Given the description of an element on the screen output the (x, y) to click on. 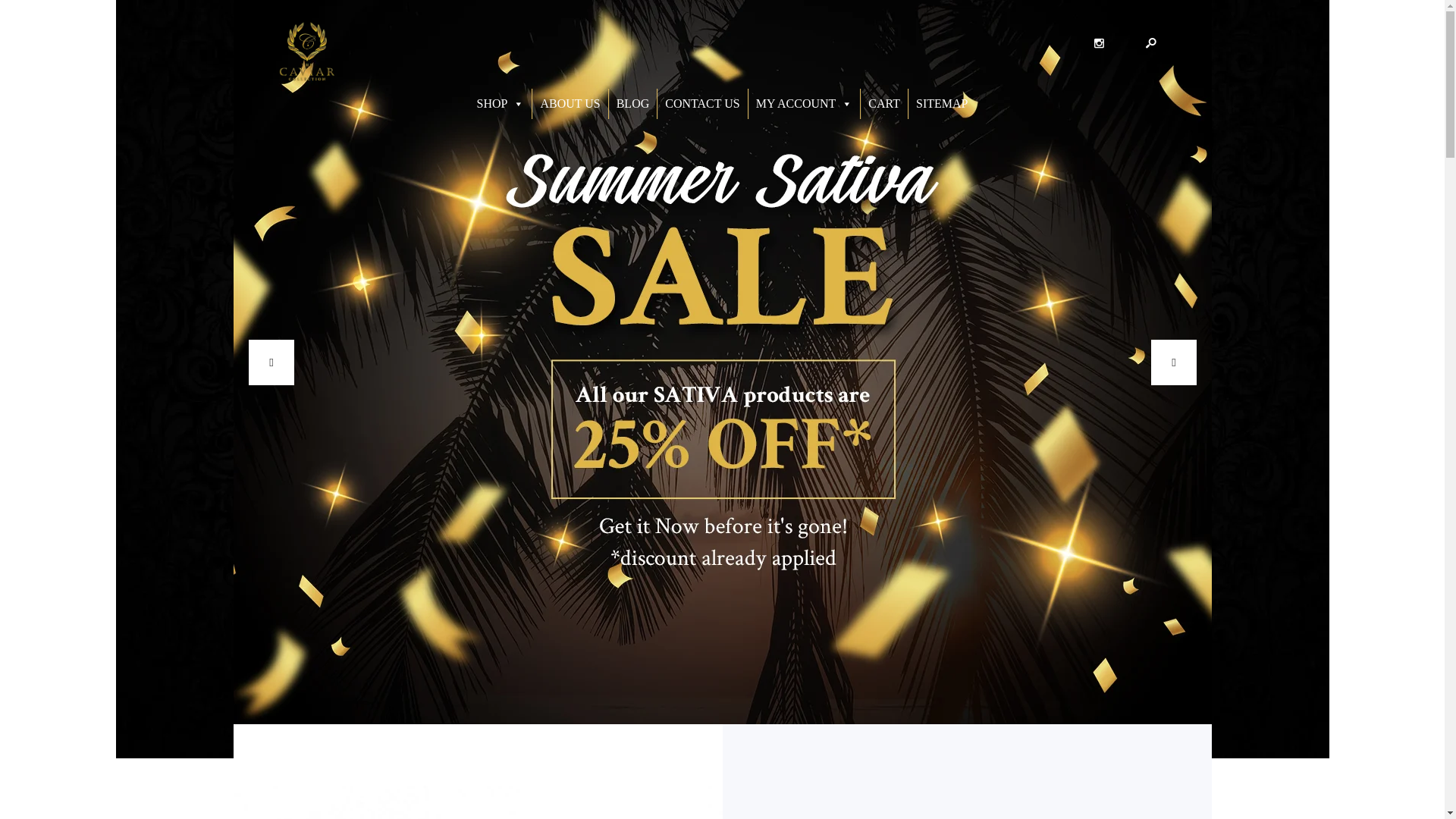
MY ACCOUNT (804, 103)
CONTACT US (702, 103)
CART (883, 103)
SHOP (499, 103)
ABOUT US (569, 103)
BLOG (633, 103)
SITEMAP (941, 103)
